Given the description of an element on the screen output the (x, y) to click on. 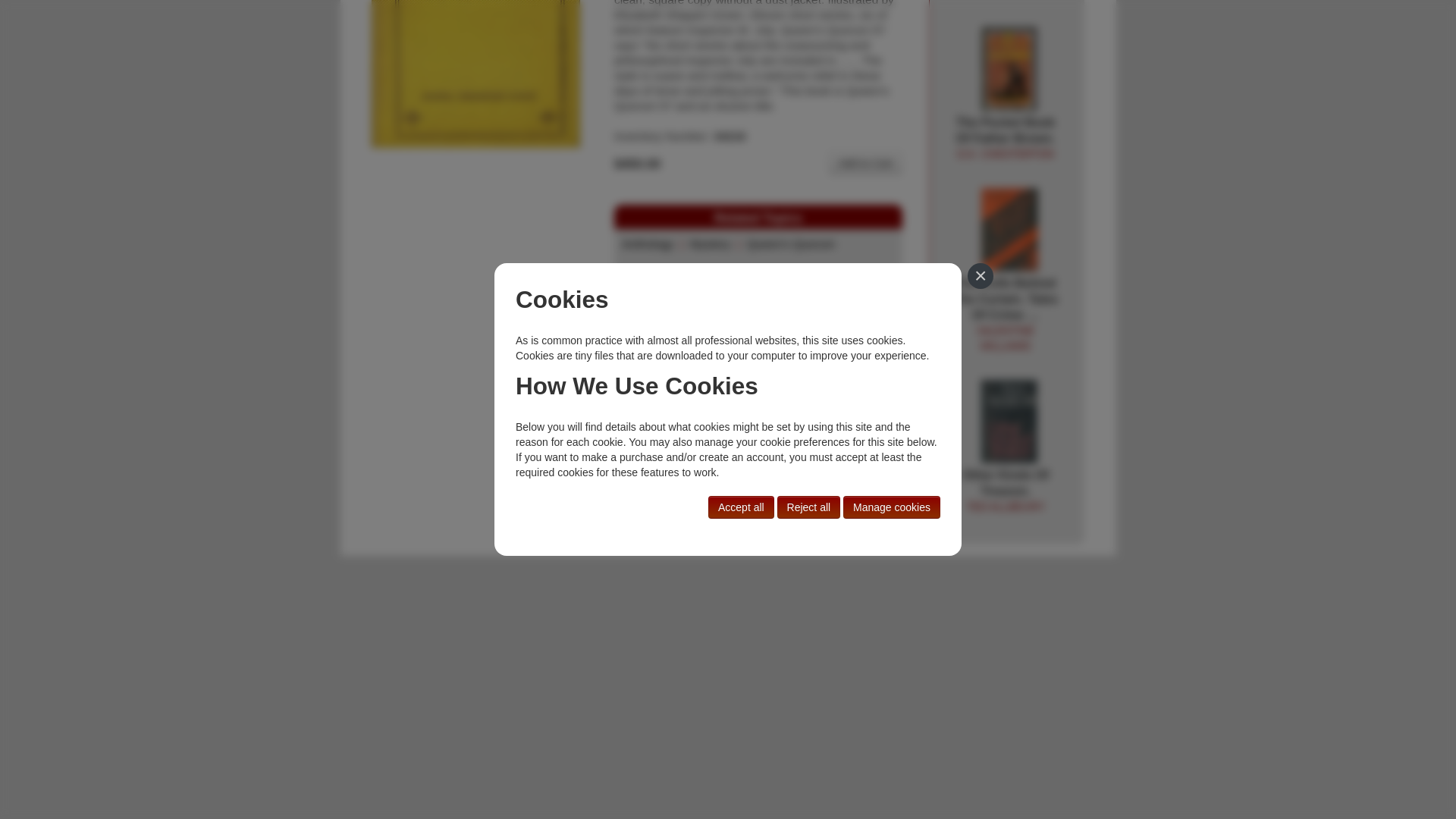
Anthology (646, 243)
Other Kinds Of Treason. (1005, 490)
The Pocket Book Of Father Brown. (1005, 138)
The Pocket Book Of Father Brown. G.K. CHESTERTON (1008, 69)
Mystery (710, 243)
Other Kinds Of Treason. TED ALLBEURY (1005, 138)
Add to Cart (1008, 422)
Queen's Quorum (865, 162)
